Given the description of an element on the screen output the (x, y) to click on. 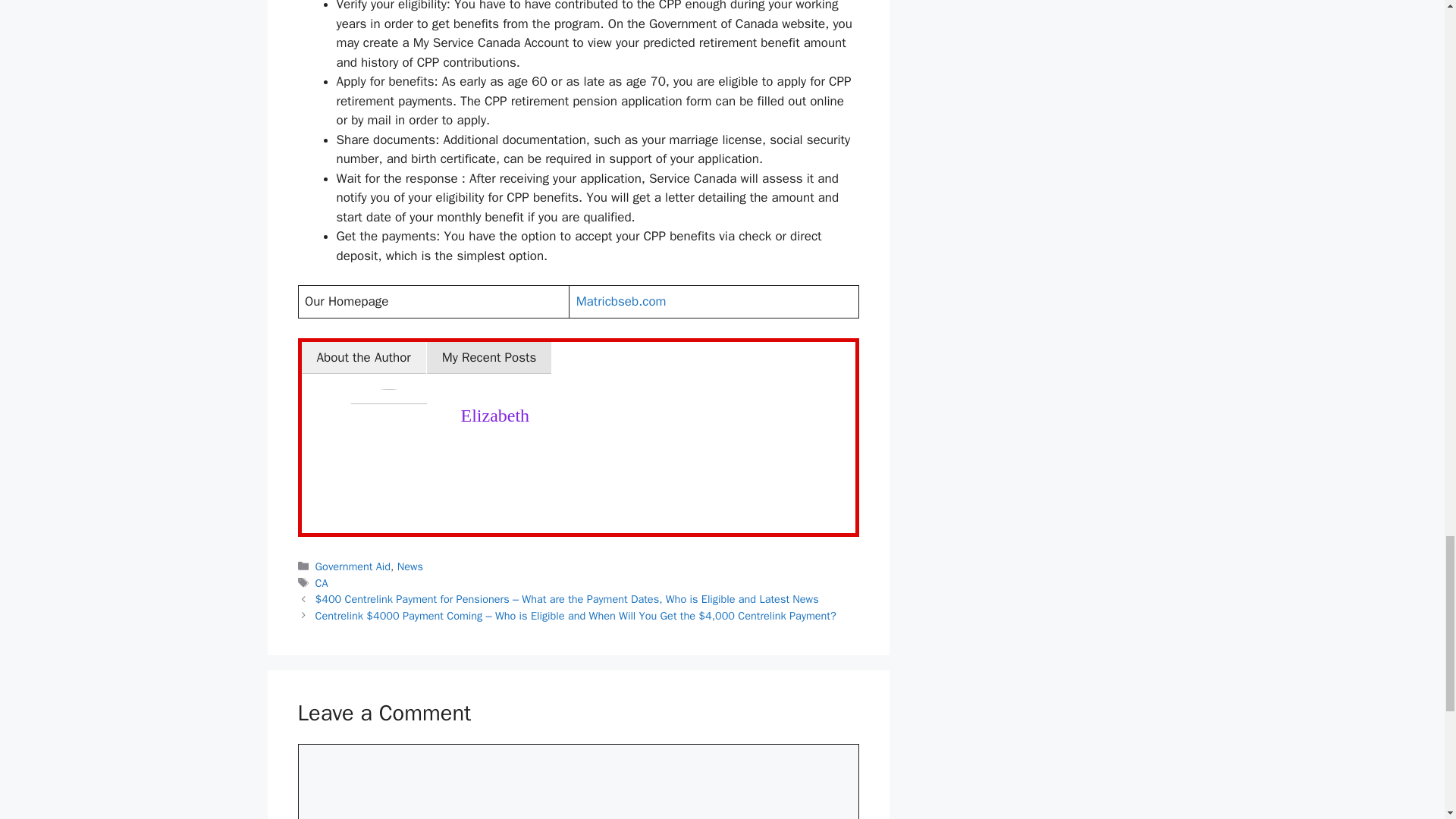
Matricbseb.com (621, 301)
Government Aid (352, 566)
News (410, 566)
Elizabeth (495, 415)
CA (322, 582)
